Given the description of an element on the screen output the (x, y) to click on. 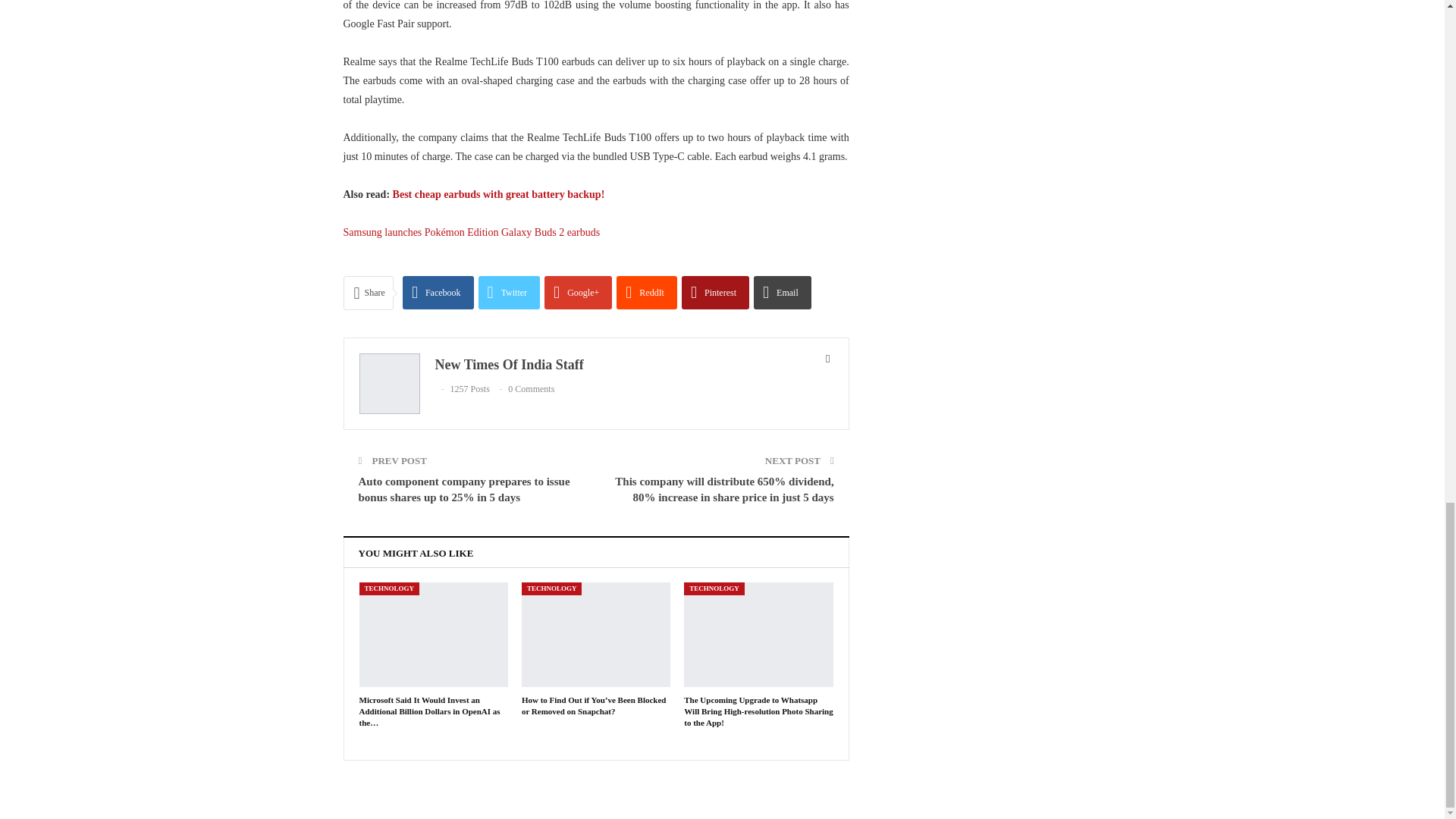
New Times Of India Staff (509, 364)
Twitter (509, 292)
YOU MIGHT ALSO LIKE (415, 552)
Facebook (438, 292)
Best cheap earbuds with great battery backup! (499, 194)
Pinterest (715, 292)
ReddIt (646, 292)
